Given the description of an element on the screen output the (x, y) to click on. 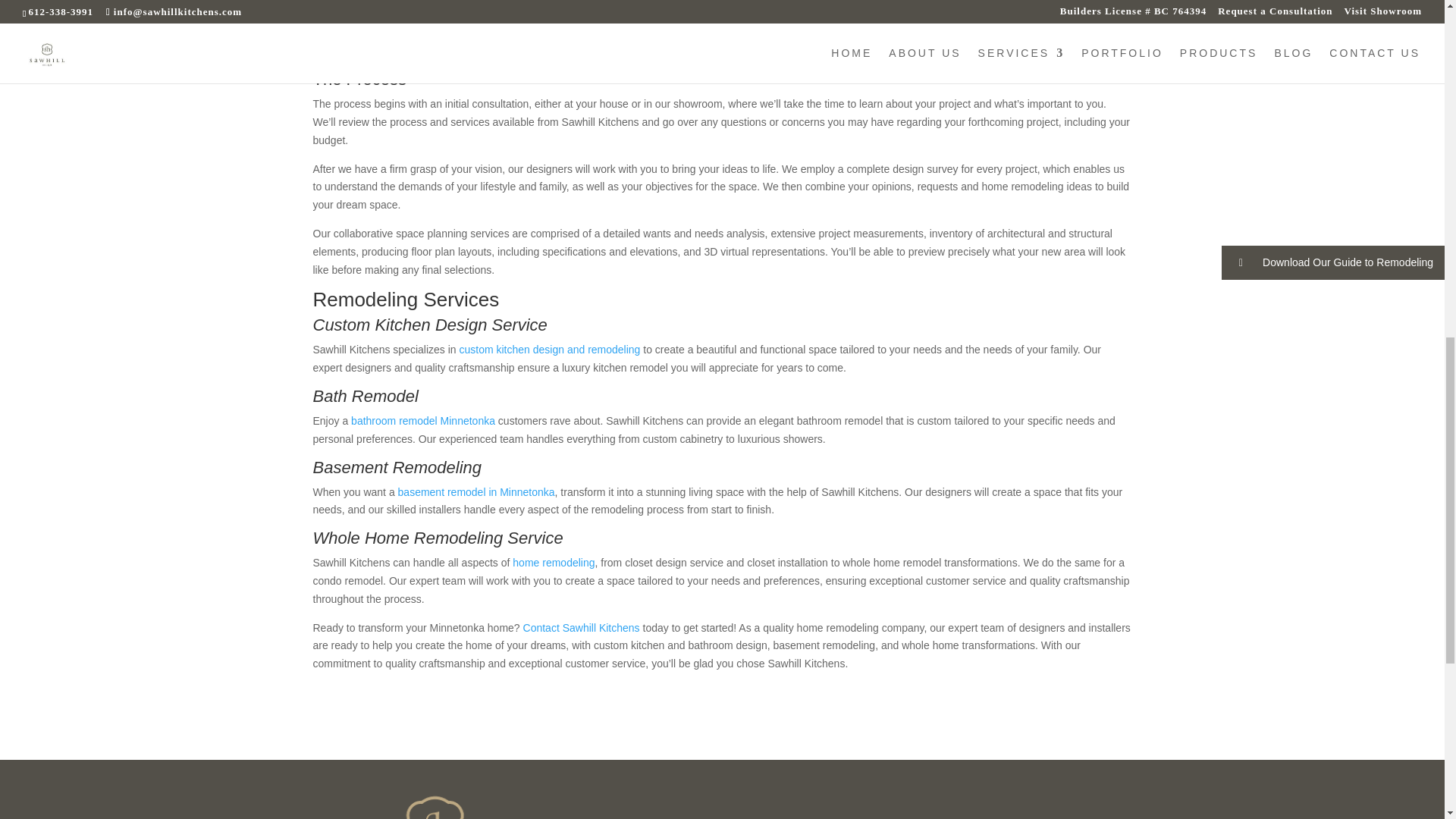
basement remodel in Minnetonka (475, 491)
custom kitchen design and remodeling (549, 349)
Contact Sawhill Kitchens (581, 627)
Bath Remodel (365, 395)
bathroom remodel Minnetonka (422, 420)
home remodeling (553, 562)
